Given the description of an element on the screen output the (x, y) to click on. 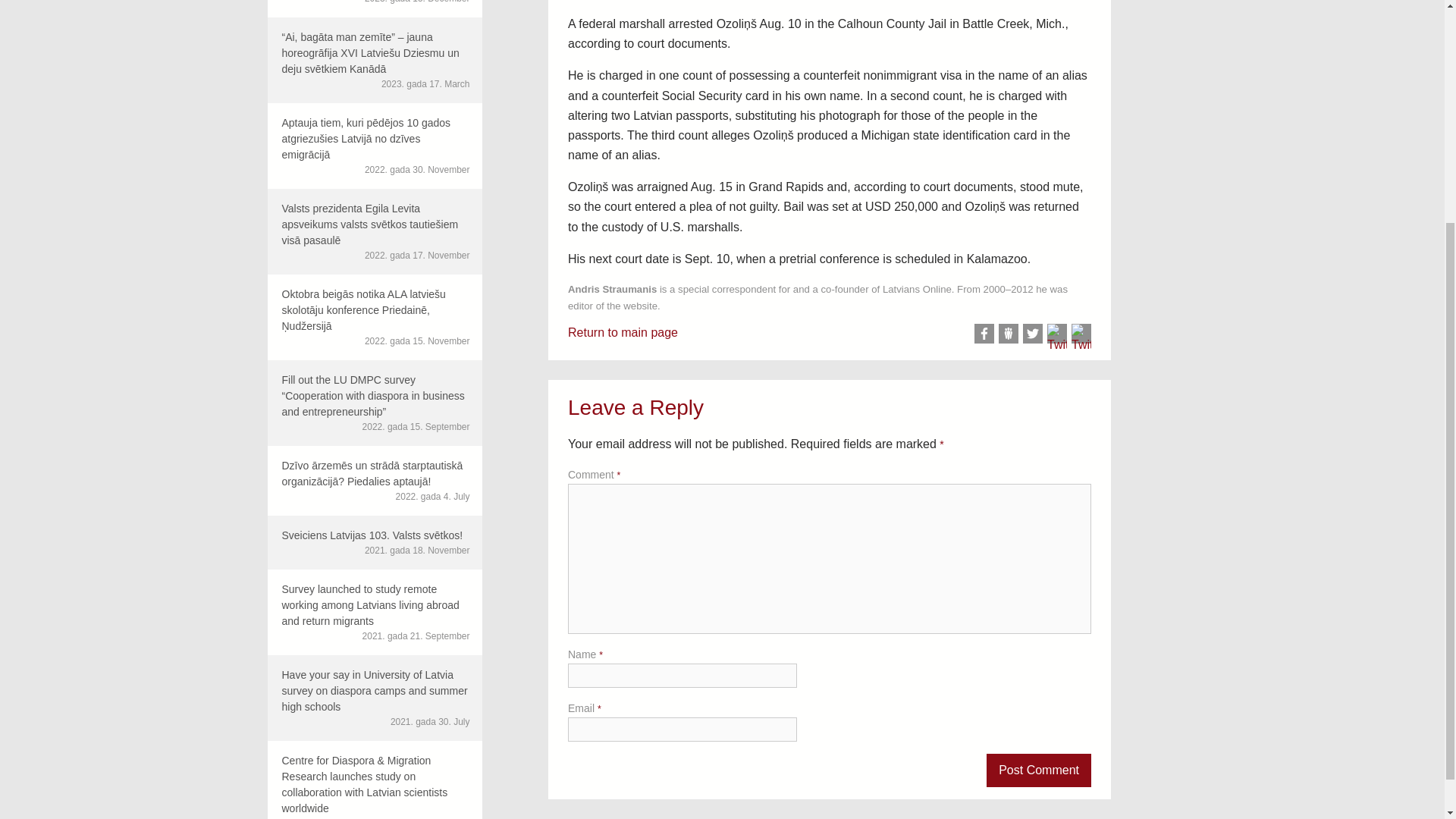
Share on Draugiem.lv (1007, 333)
Return to main page (622, 332)
Post Comment (1038, 770)
Print (1080, 333)
Share on Facebook (984, 333)
Share via Email (1056, 333)
Share on Twitter (1032, 333)
